Given the description of an element on the screen output the (x, y) to click on. 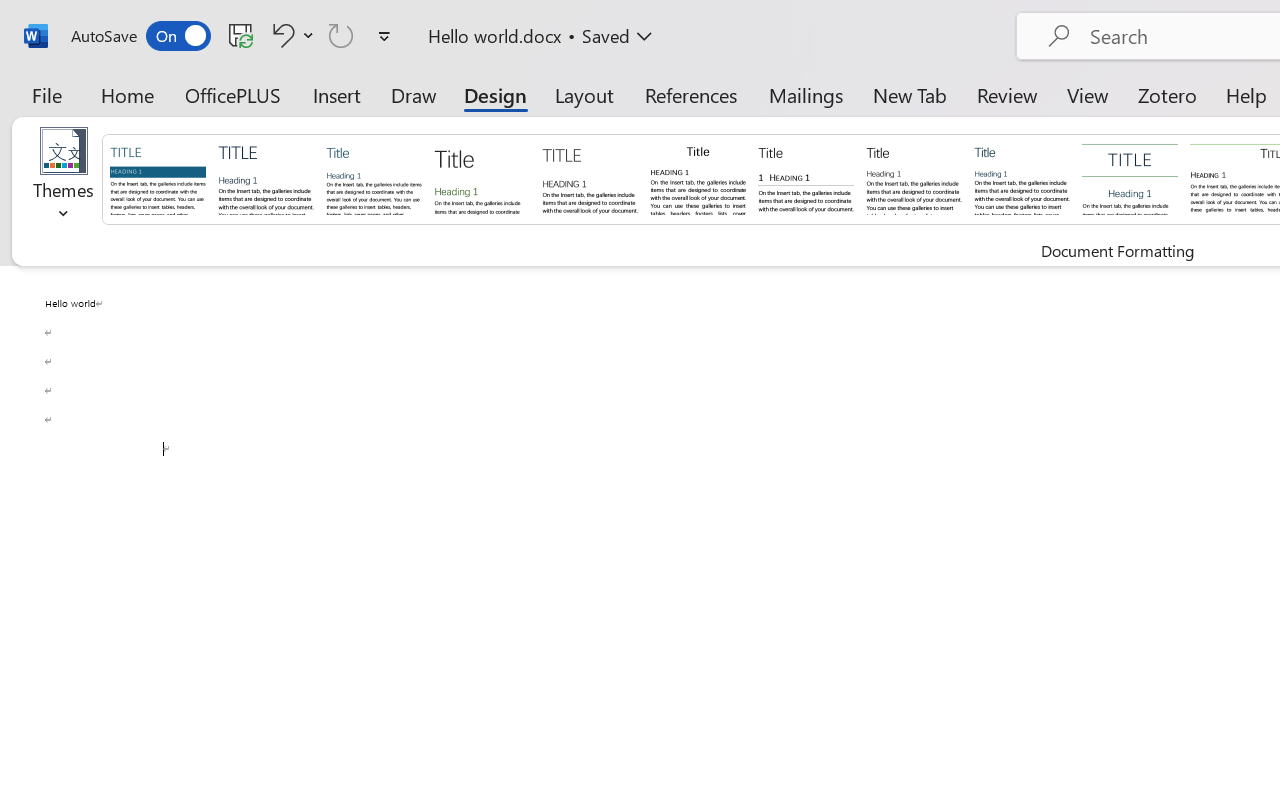
Layout (584, 94)
AutoSave (140, 35)
Undo Apply Quick Style Set (280, 35)
Basic (Simple) (373, 178)
Save (241, 35)
